Given the description of an element on the screen output the (x, y) to click on. 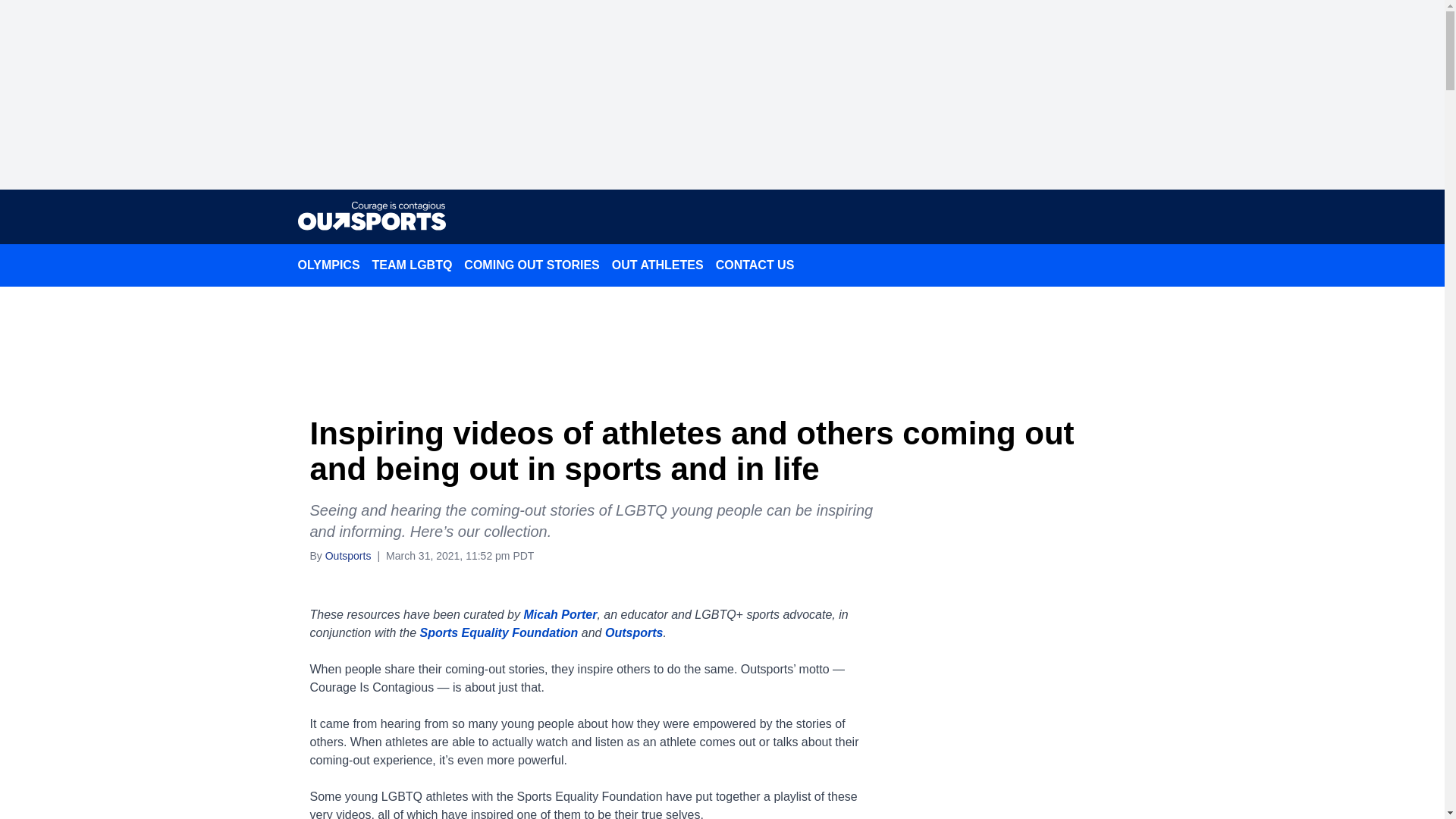
Outsports (633, 632)
Outsports (347, 554)
COMING OUT STORIES (531, 265)
OUT ATHLETES (657, 265)
CONTACT US (755, 265)
OLYMPICS (328, 265)
TEAM LGBTQ (412, 265)
Sports Equality Foundation (498, 632)
Micah Porter (559, 614)
